Given the description of an element on the screen output the (x, y) to click on. 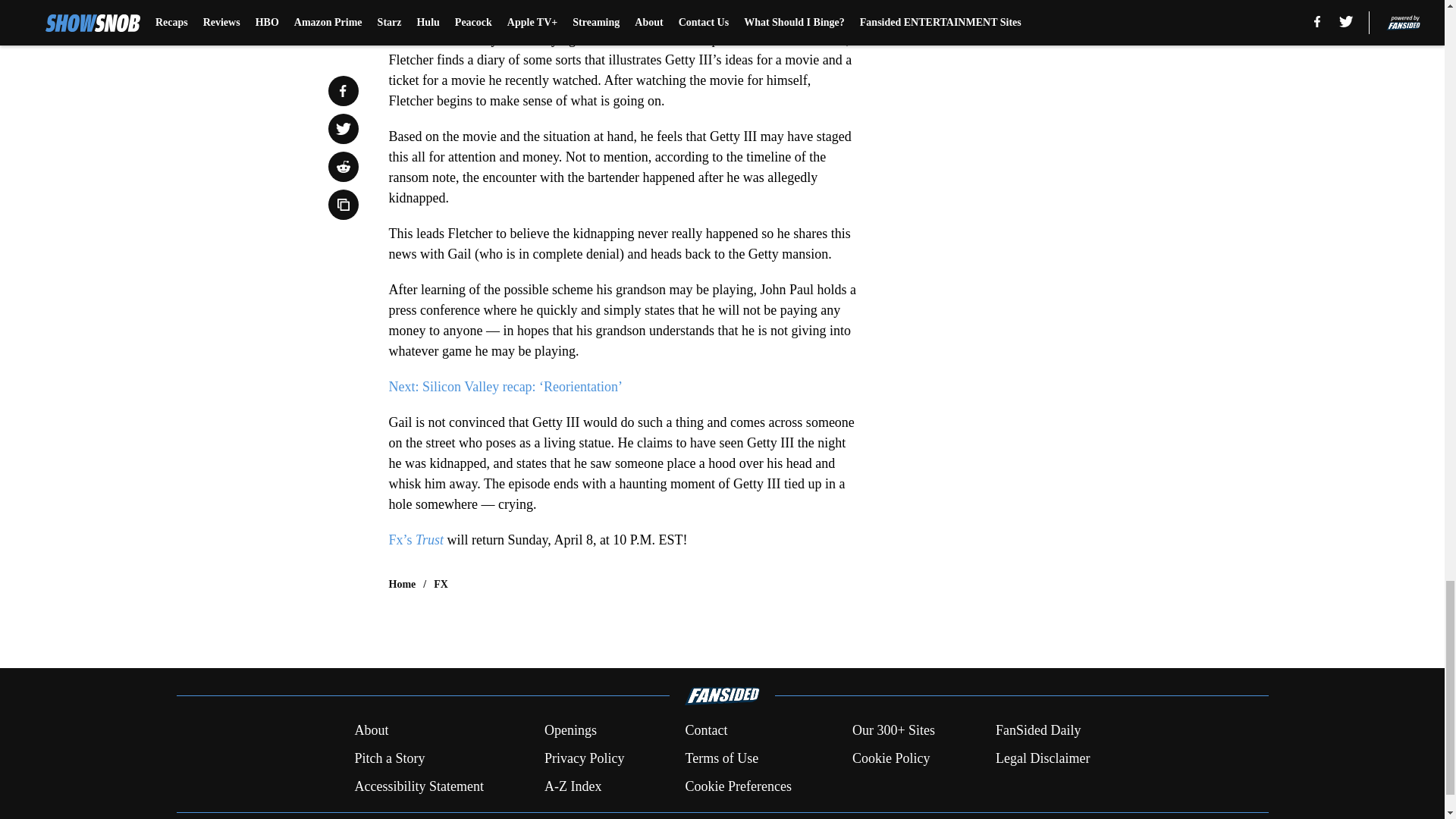
Home (401, 584)
Contact (705, 730)
About (370, 730)
FanSided Daily (1038, 730)
Pitch a Story (389, 758)
Openings (570, 730)
FX (440, 584)
